Given the description of an element on the screen output the (x, y) to click on. 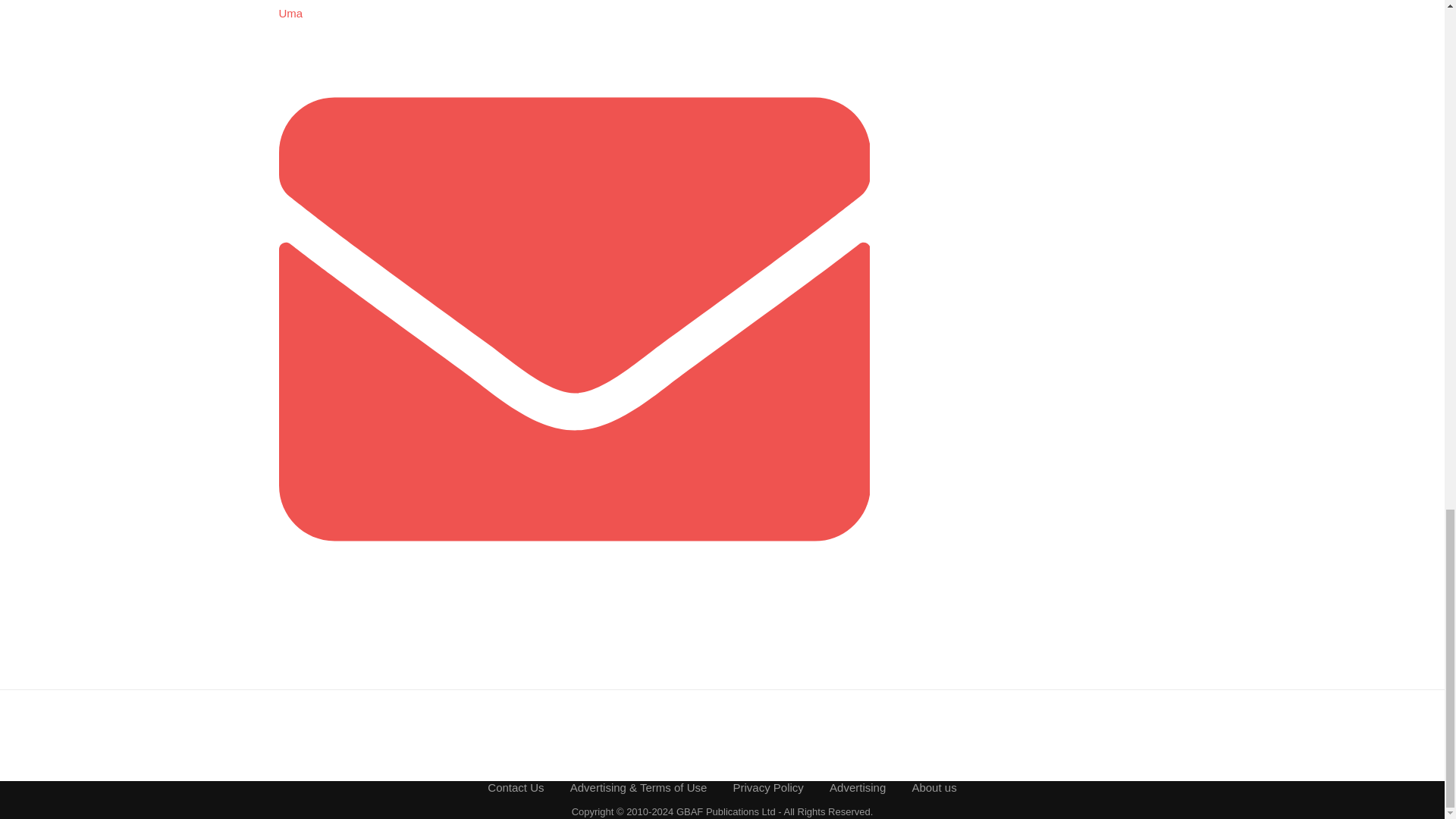
User email (574, 610)
Contact Us (515, 787)
Privacy Policy (768, 787)
About us (933, 787)
Italy's Industry Ministry reports 'heavy' cyberattack (317, 1)
Uma (290, 12)
Advertising (857, 787)
